Given the description of an element on the screen output the (x, y) to click on. 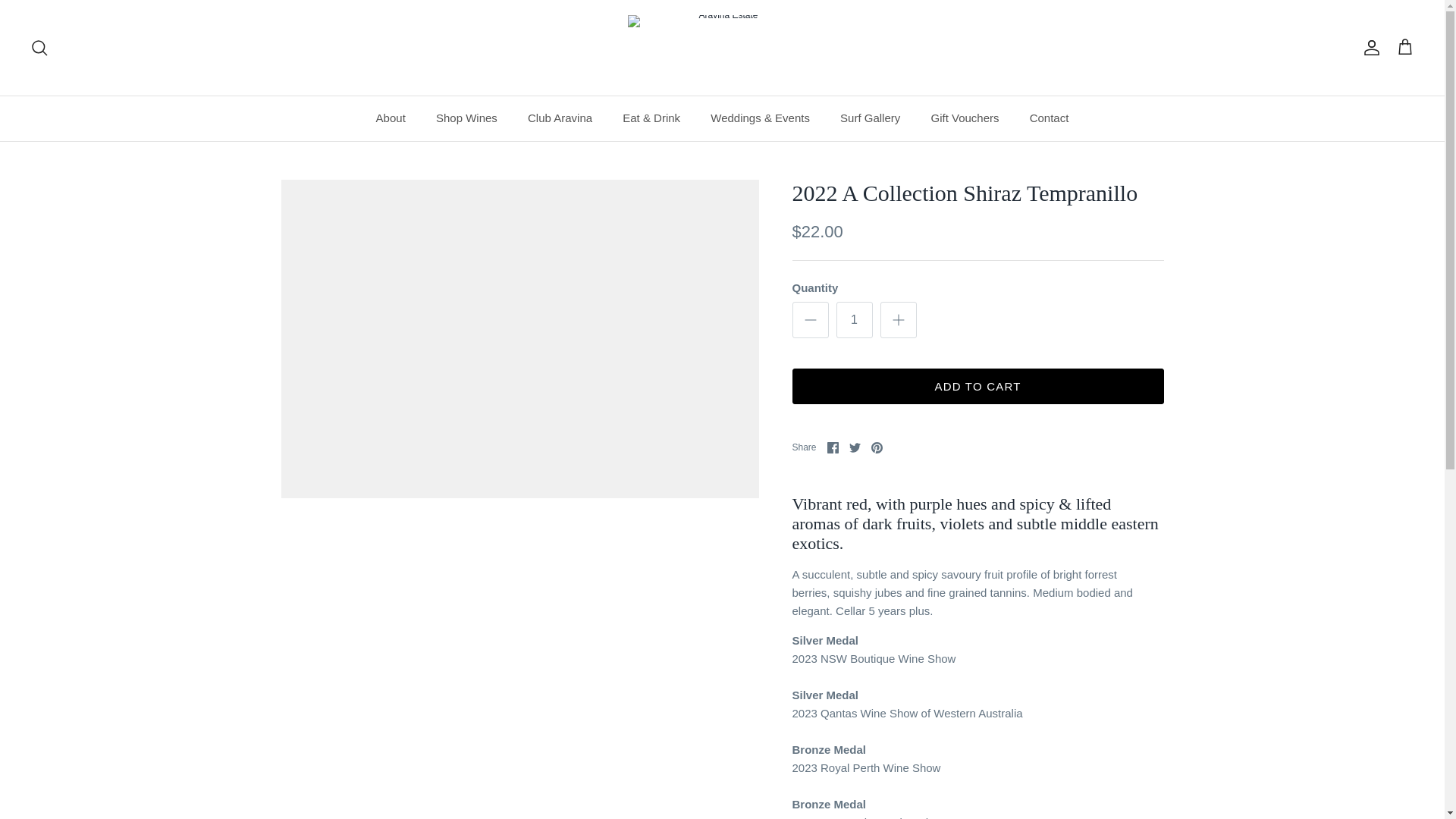
Minus (809, 320)
Club Aravina (559, 118)
1 (853, 320)
About (390, 118)
Cart (1404, 47)
Pinterest (876, 447)
Facebook (832, 447)
Aravina Estate (721, 47)
Plus (897, 320)
Shop Wines (466, 118)
